Given the description of an element on the screen output the (x, y) to click on. 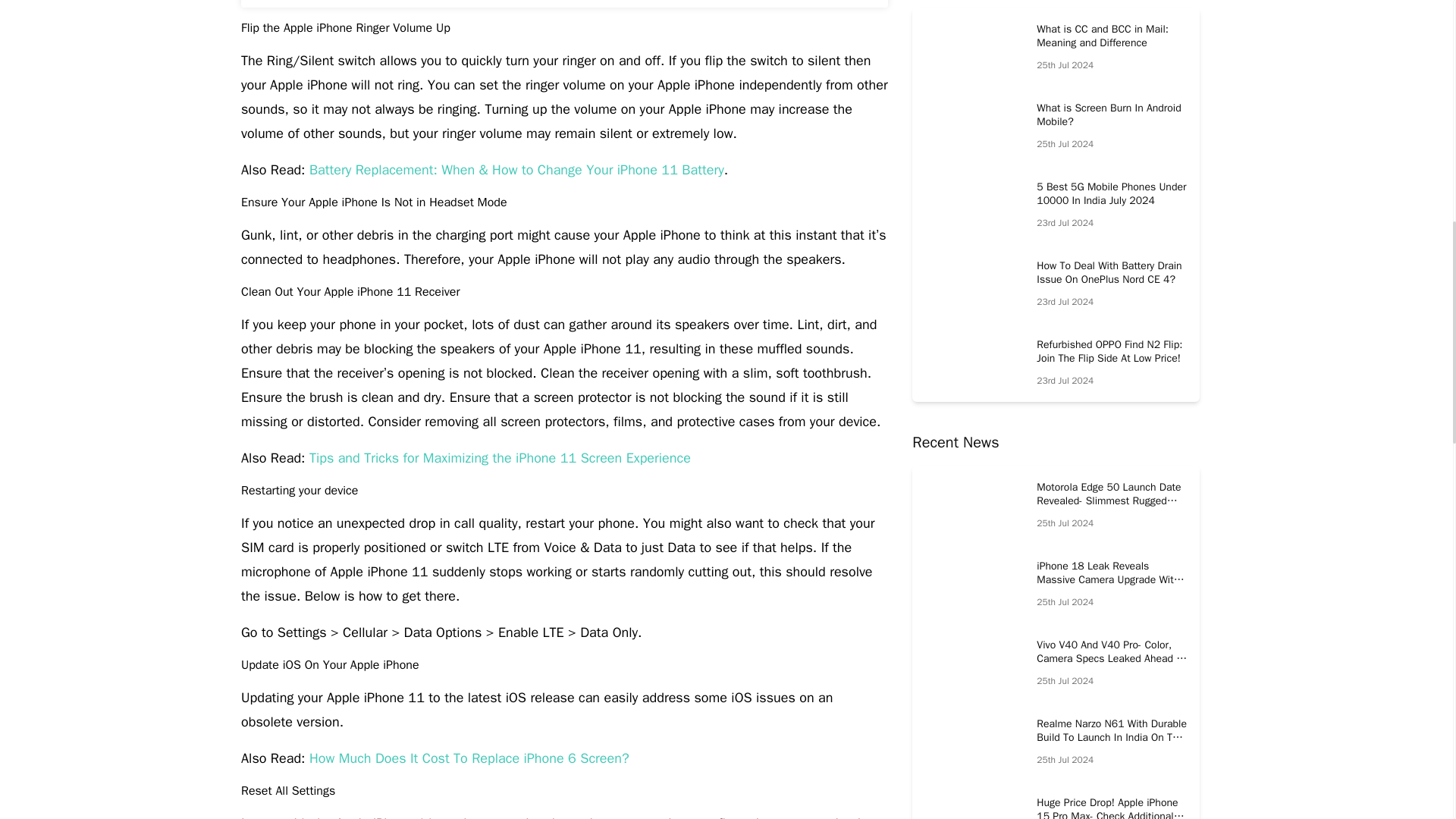
How Much Does It Cost To Replace iPhone 6 Screen? (468, 758)
